Given the description of an element on the screen output the (x, y) to click on. 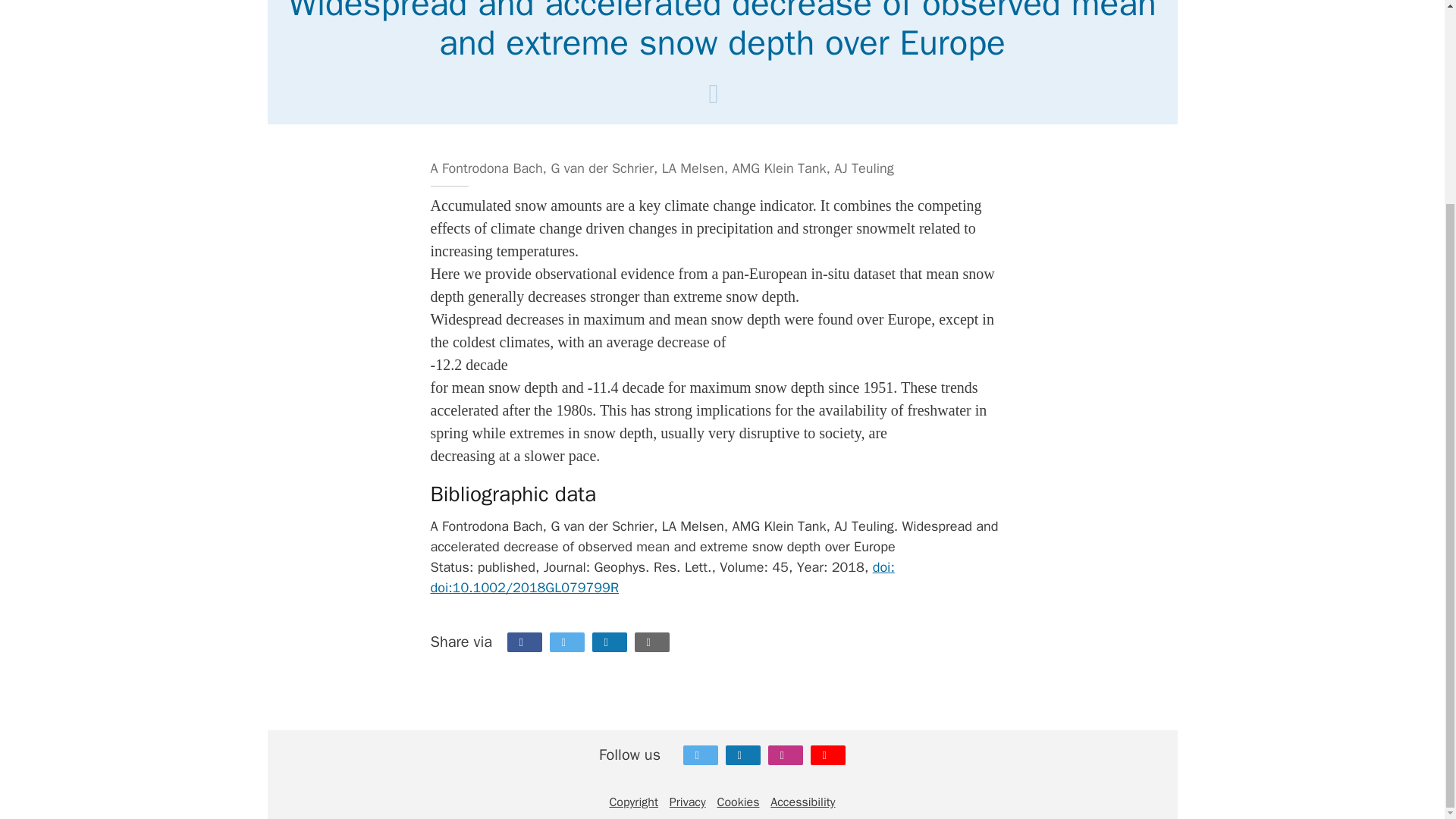
Facebook (523, 641)
Accessibility (802, 801)
Twitter (699, 754)
Youtube (827, 754)
Cookies (738, 801)
Privacy (687, 801)
Instagram (785, 754)
Email (651, 641)
Linkedin (609, 641)
Copyright (633, 801)
Linkedin (742, 754)
Twitter (567, 641)
